Given the description of an element on the screen output the (x, y) to click on. 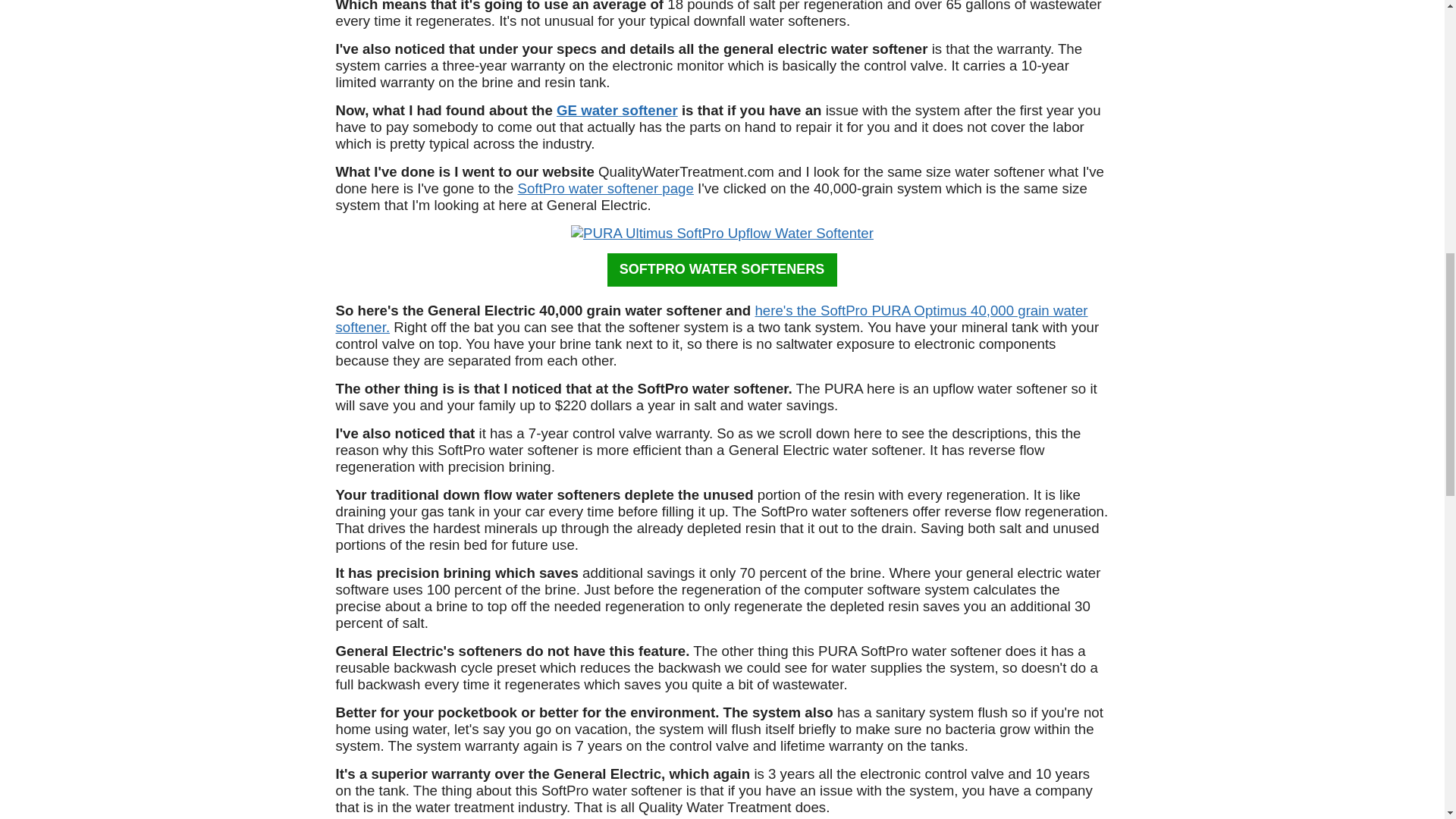
PURA 40,000 Water Softener (721, 232)
How to Size Your GE Water Softener (617, 109)
PURA Optimus Water Softener (710, 318)
SoftPro PURA and ELITE Water Softening Systems (606, 188)
